Given the description of an element on the screen output the (x, y) to click on. 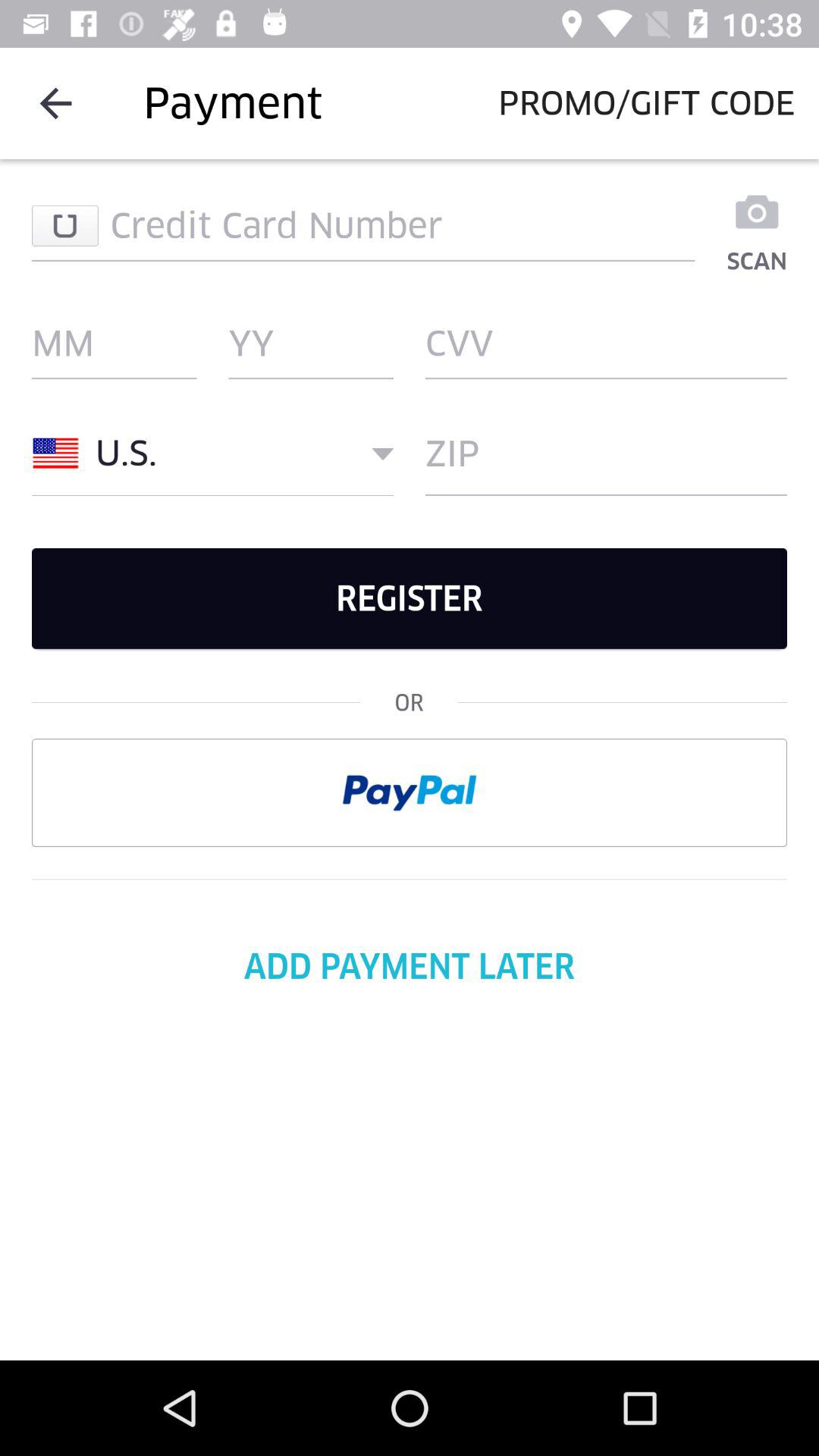
month (113, 343)
